Given the description of an element on the screen output the (x, y) to click on. 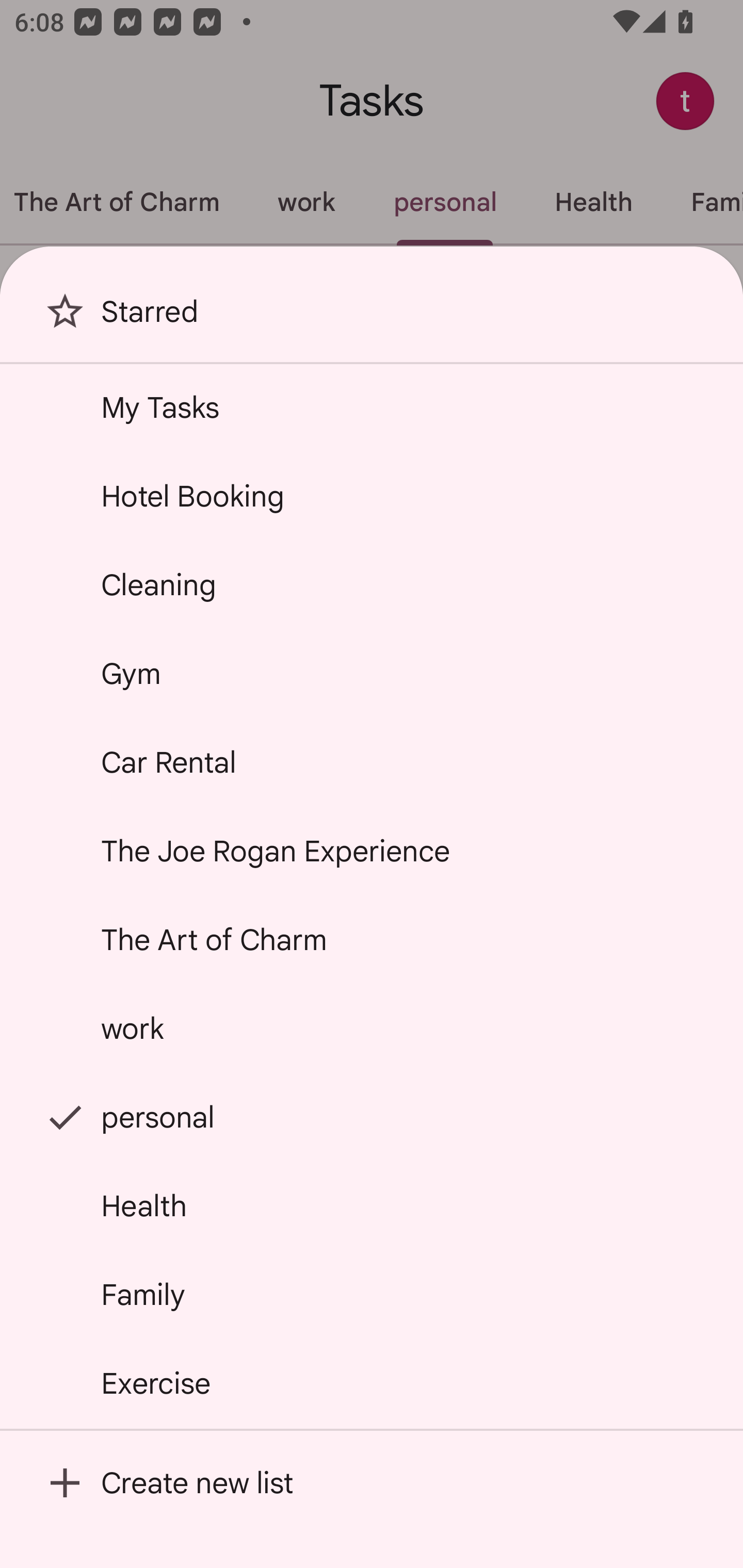
Starred (371, 318)
My Tasks (371, 407)
Hotel Booking (371, 496)
Cleaning (371, 584)
Gym (371, 673)
Car Rental (371, 762)
The Joe Rogan Experience (371, 850)
The Art of Charm (371, 939)
work (371, 1028)
personal (371, 1117)
Health (371, 1205)
Family (371, 1294)
Exercise (371, 1383)
Create new list (371, 1482)
